Given the description of an element on the screen output the (x, y) to click on. 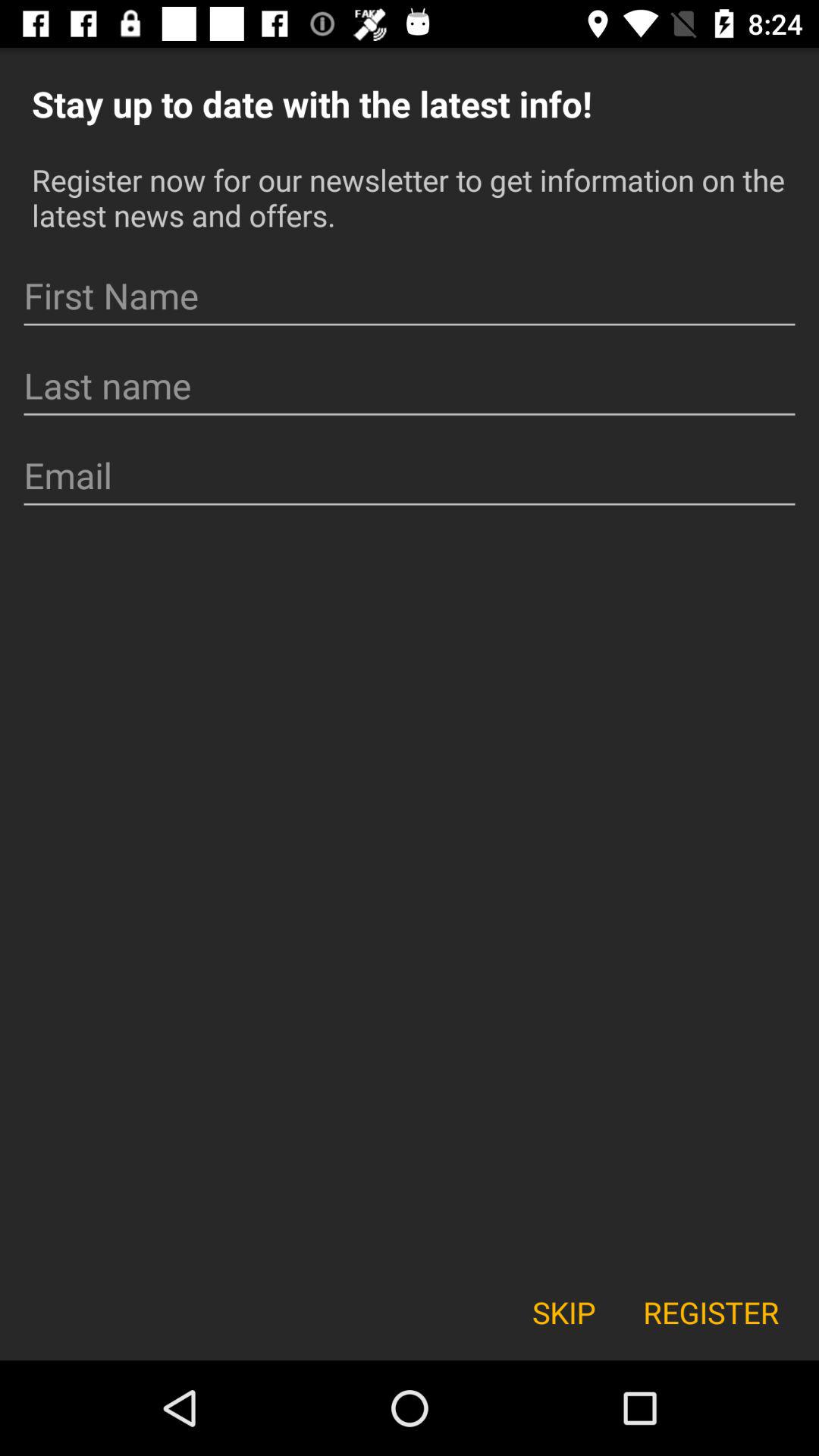
turn off icon above skip icon (409, 475)
